Given the description of an element on the screen output the (x, y) to click on. 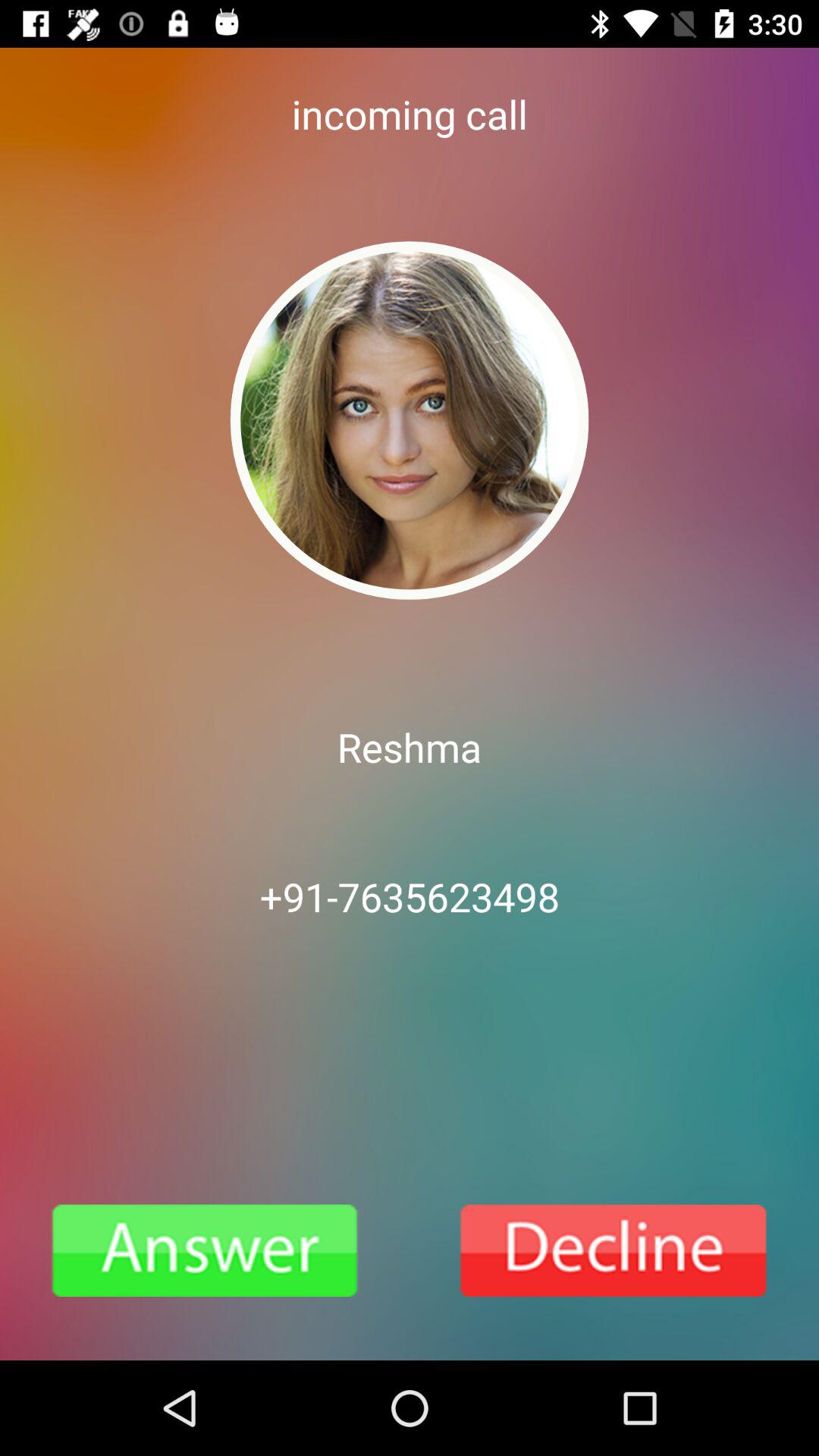
go to decline (614, 1250)
